Given the description of an element on the screen output the (x, y) to click on. 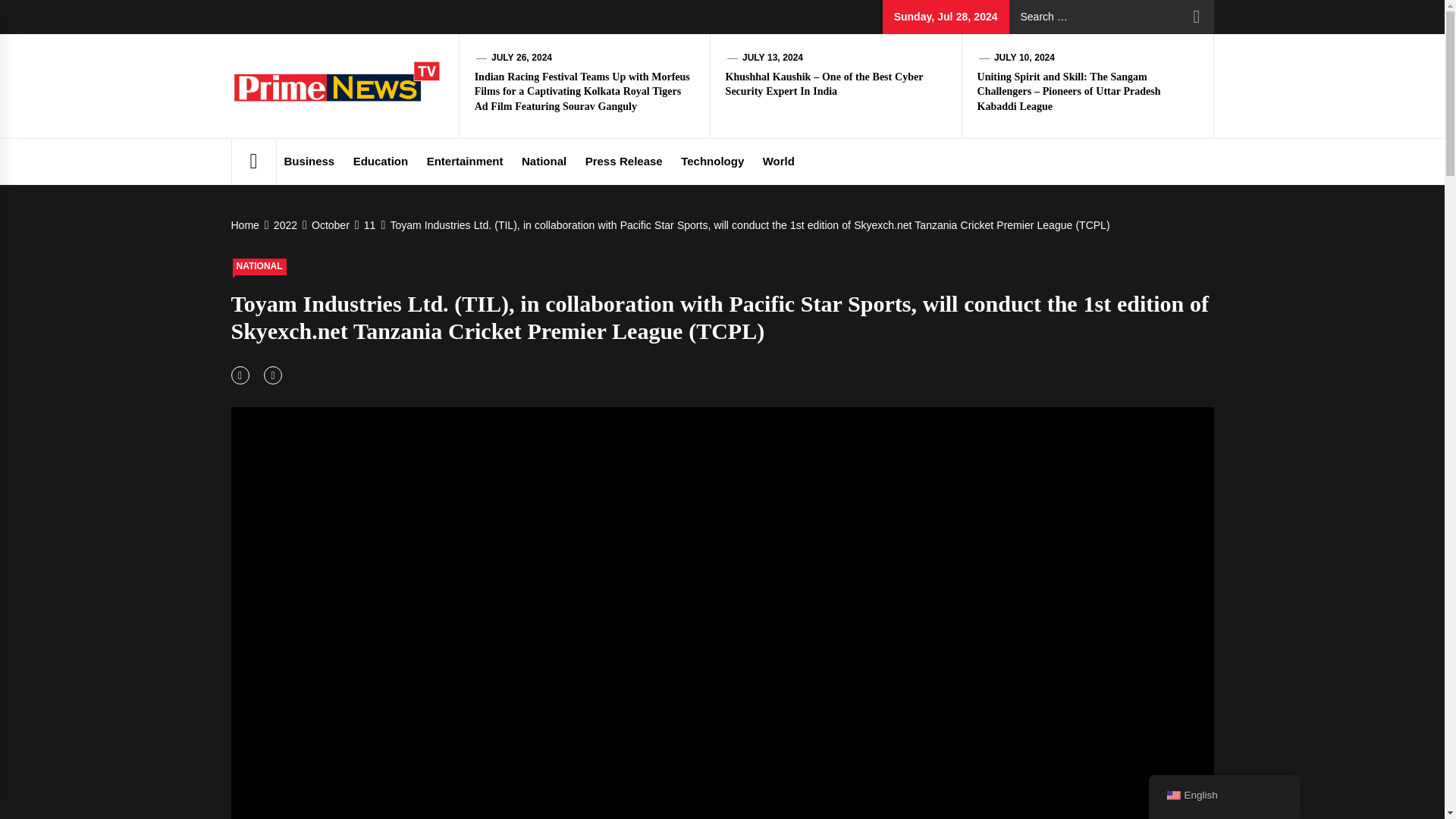
Business (309, 161)
11 (368, 224)
JULY 13, 2024 (772, 57)
October (328, 224)
Search (1196, 17)
2022 (283, 224)
English (1172, 795)
Education (381, 161)
Entertainment (465, 161)
Technology (711, 161)
Press Release (623, 161)
Search (1196, 17)
JULY 10, 2024 (1024, 57)
National (543, 161)
